Given the description of an element on the screen output the (x, y) to click on. 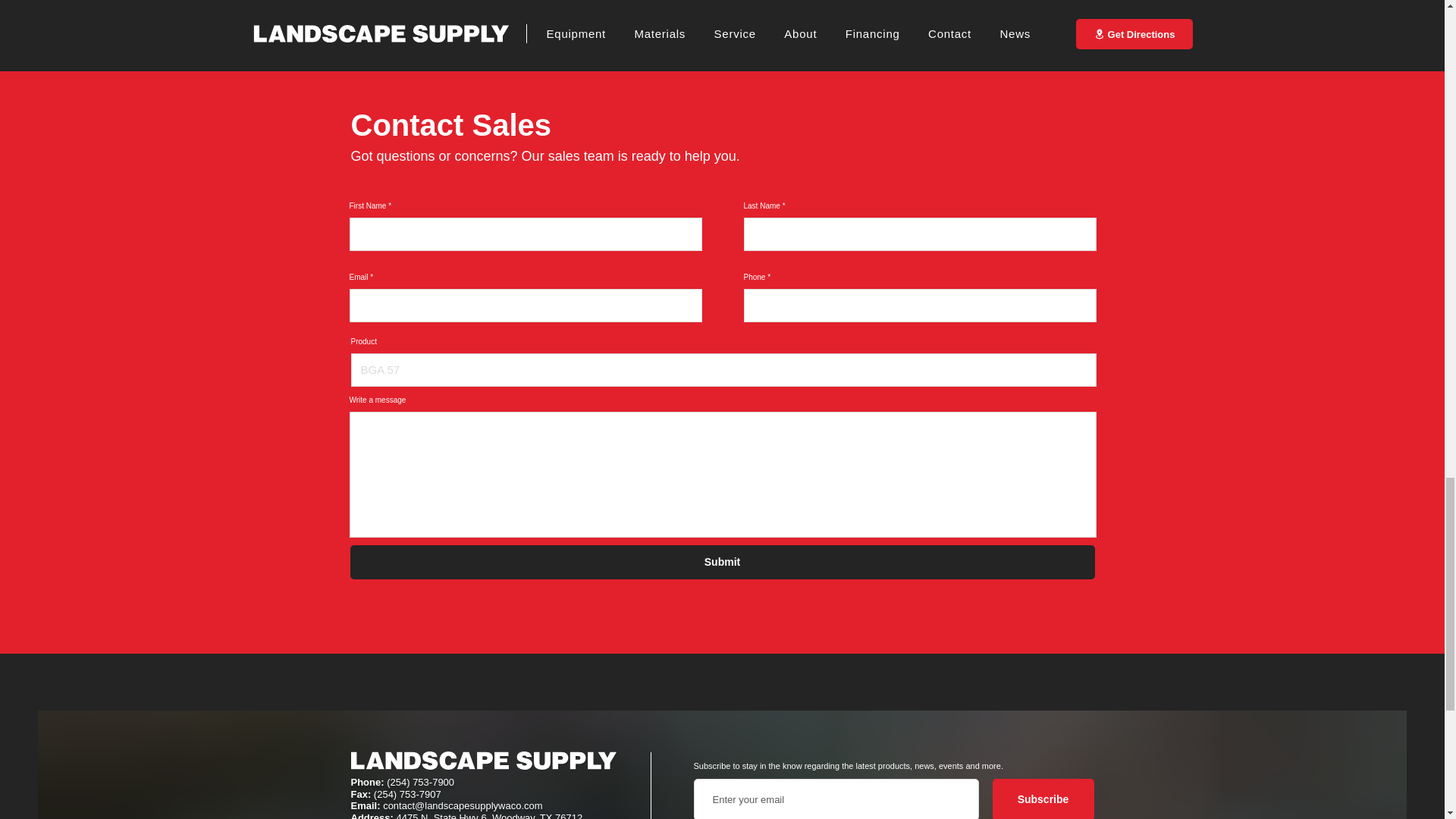
Subscribe (1042, 798)
Submit (722, 562)
4475 N. State Hwy 6, Woodway, TX 76712 (489, 815)
BGA 57 (723, 369)
